Given the description of an element on the screen output the (x, y) to click on. 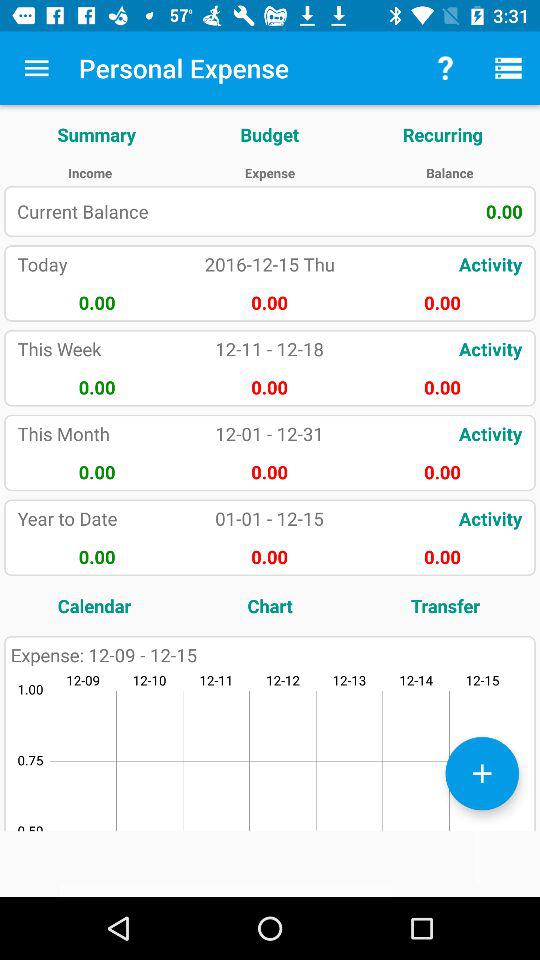
click chart icon (269, 605)
